Given the description of an element on the screen output the (x, y) to click on. 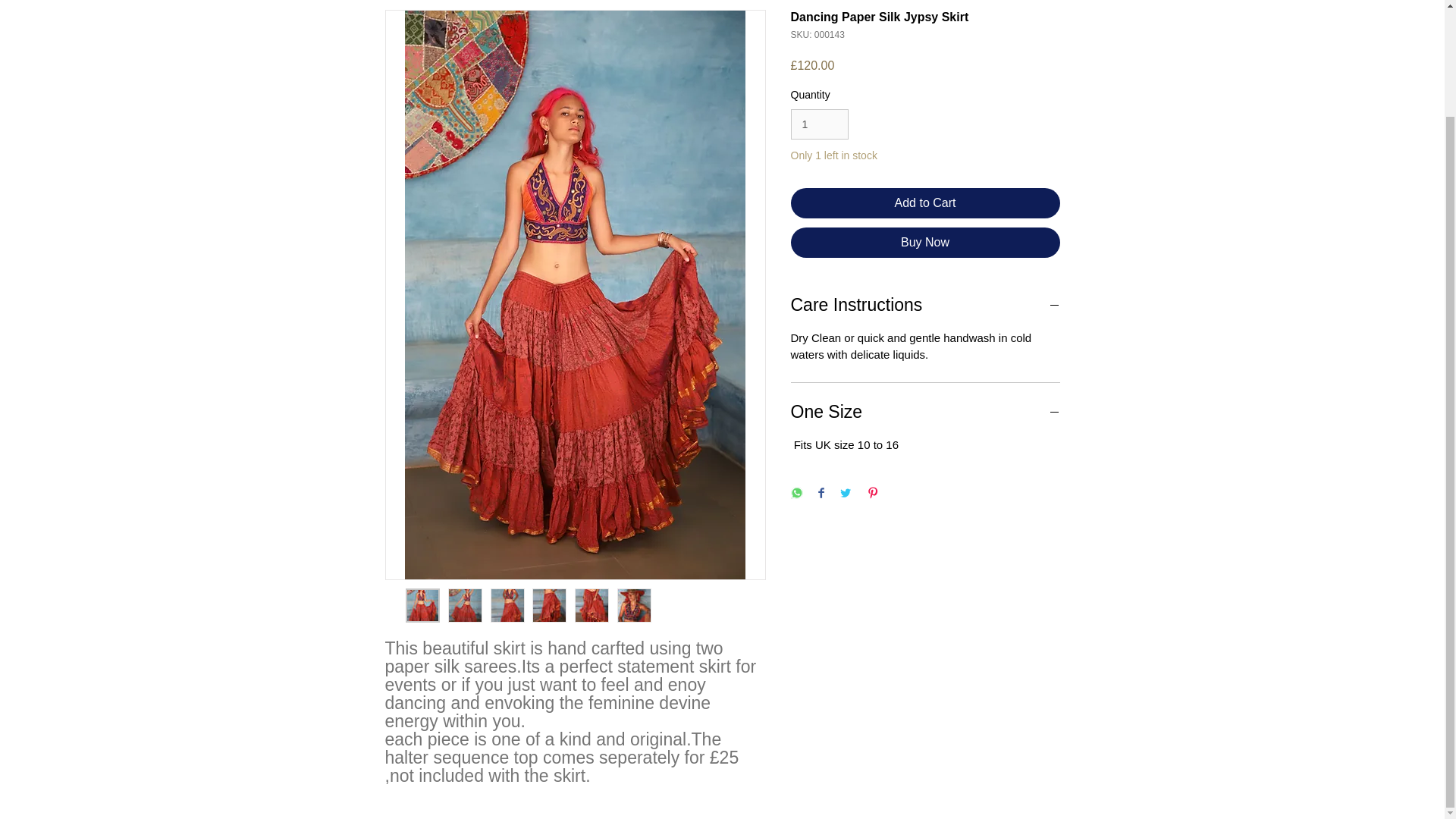
1 (818, 124)
